Given the description of an element on the screen output the (x, y) to click on. 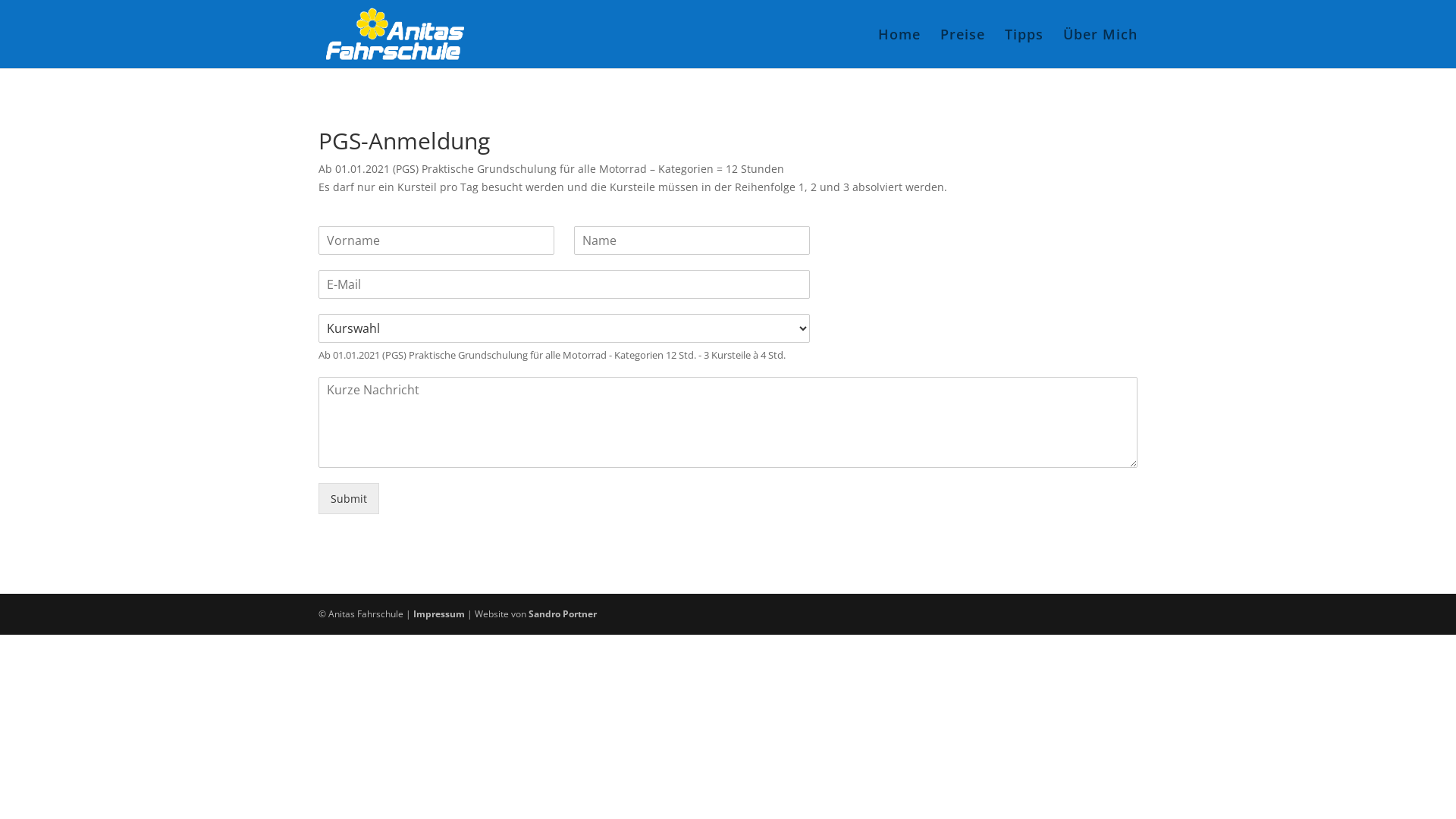
Sandro Portner Element type: text (562, 613)
Home Element type: text (899, 48)
Preise Element type: text (962, 48)
Submit Element type: text (348, 498)
Tipps Element type: text (1023, 48)
Impressum Element type: text (438, 613)
